Given the description of an element on the screen output the (x, y) to click on. 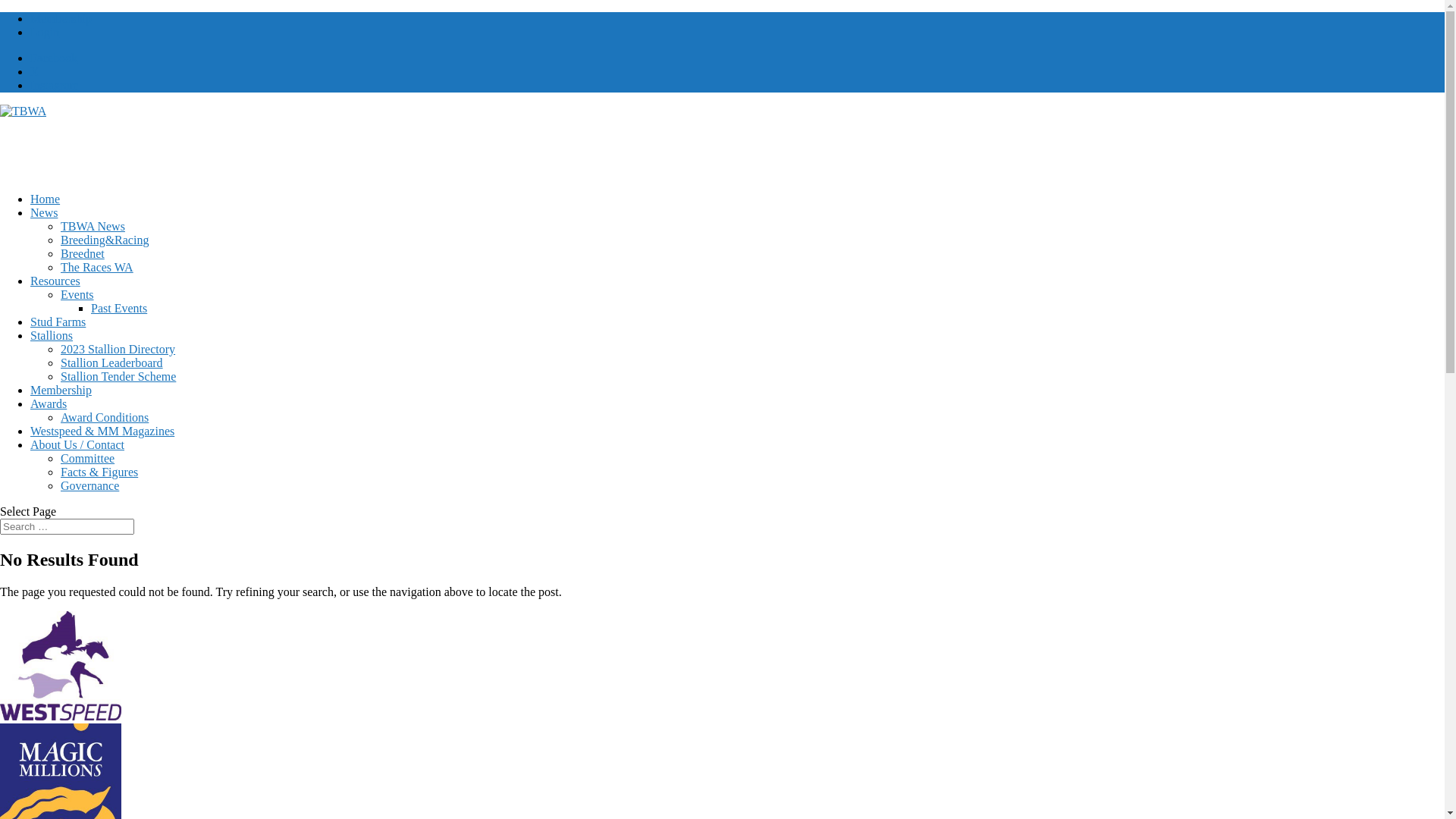
Breednet Element type: text (82, 253)
Membership Element type: text (60, 18)
Award Conditions Element type: text (104, 417)
About Us / Contact Element type: text (77, 444)
Resources Element type: text (55, 280)
Instagram Element type: text (54, 84)
Past Events Element type: text (119, 307)
Stud Farms Element type: text (57, 321)
Westspeed & MM Magazines Element type: text (102, 430)
Governance Element type: text (89, 485)
2023 Stallion Directory Element type: text (117, 348)
Home Element type: text (44, 198)
Stallion Tender Scheme Element type: text (117, 376)
Stallions Element type: text (51, 335)
Login Element type: text (44, 31)
Membership Element type: text (60, 389)
Committee Element type: text (87, 457)
Stallion Leaderboard Element type: text (111, 362)
TBWA News Element type: text (92, 225)
Facts & Figures Element type: text (99, 471)
Breeding&Racing Element type: text (104, 239)
Facebook Element type: text (53, 57)
Events Element type: text (77, 294)
News Element type: text (43, 212)
Awards Element type: text (48, 403)
Search for: Element type: hover (67, 526)
The Races WA Element type: text (96, 266)
X Element type: text (34, 71)
